Given the description of an element on the screen output the (x, y) to click on. 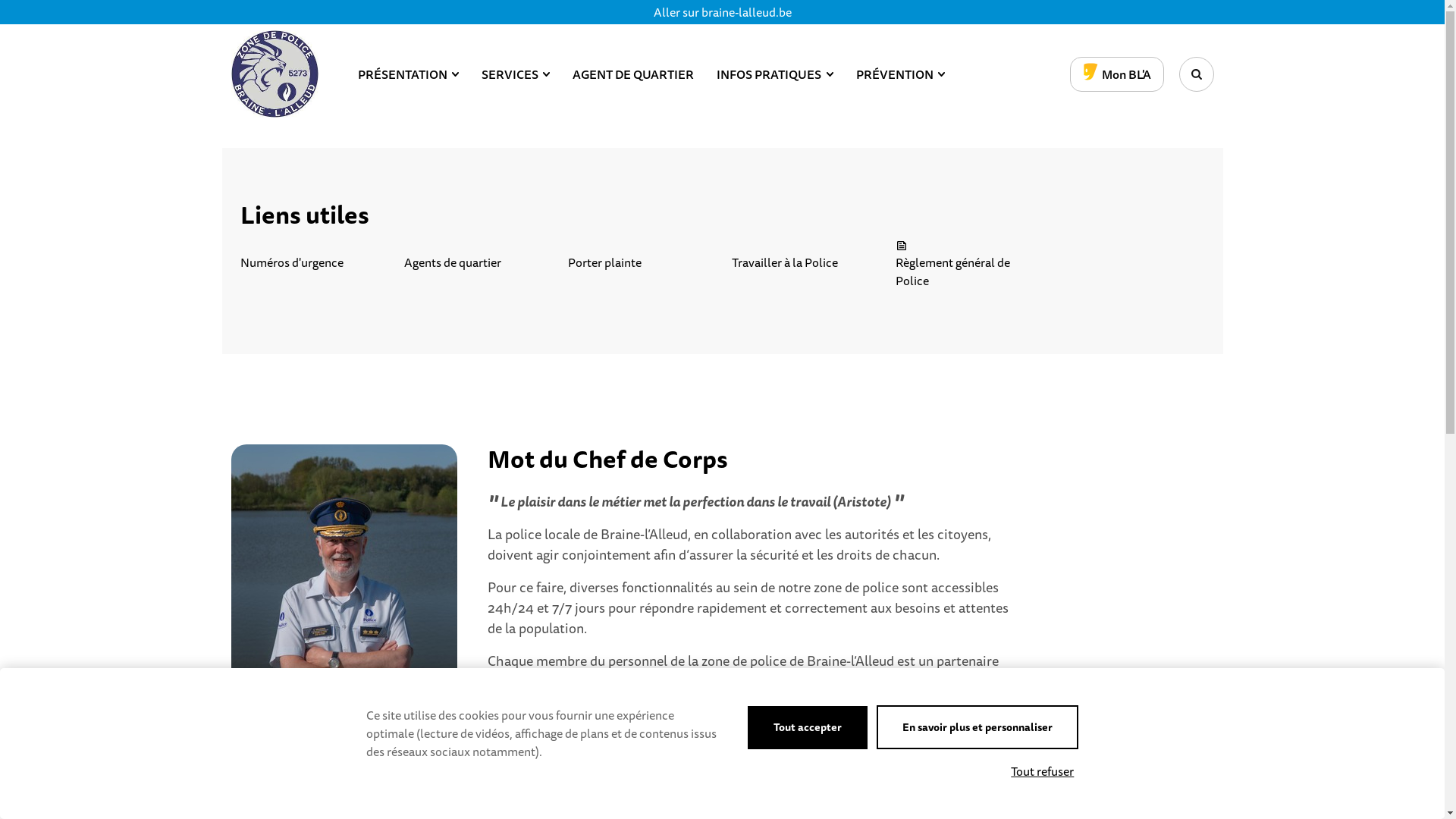
Tout accepter Element type: text (807, 727)
Mon BL'A Element type: text (1116, 73)
Rechercher Element type: text (1195, 73)
Zone de Police Element type: hover (273, 73)
SERVICES Element type: text (515, 74)
Agents de quartier Element type: text (476, 253)
INFOS PRATIQUES Element type: text (774, 74)
Porter plainte Element type: text (639, 253)
Zone de Police Element type: hover (273, 73)
Aller sur braine-lalleud.be Element type: text (722, 11)
Tout refuser Element type: text (1042, 771)
AGENT DE QUARTIER Element type: text (632, 74)
En savoir plus et personnaliser Element type: text (977, 727)
